Given the description of an element on the screen output the (x, y) to click on. 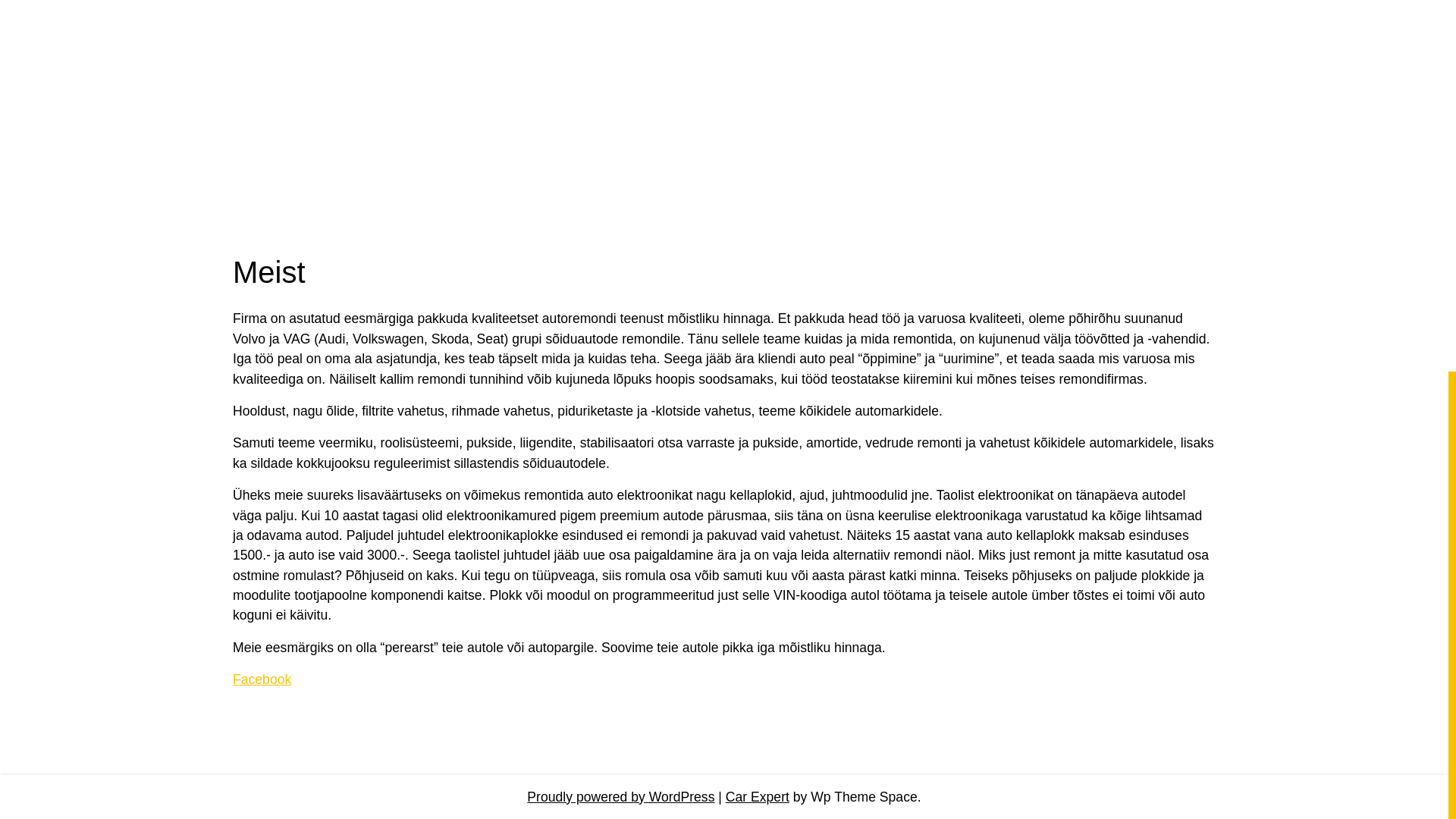
Car Expert (757, 795)
Facebook (261, 679)
Proudly powered by WordPress (620, 795)
